Given the description of an element on the screen output the (x, y) to click on. 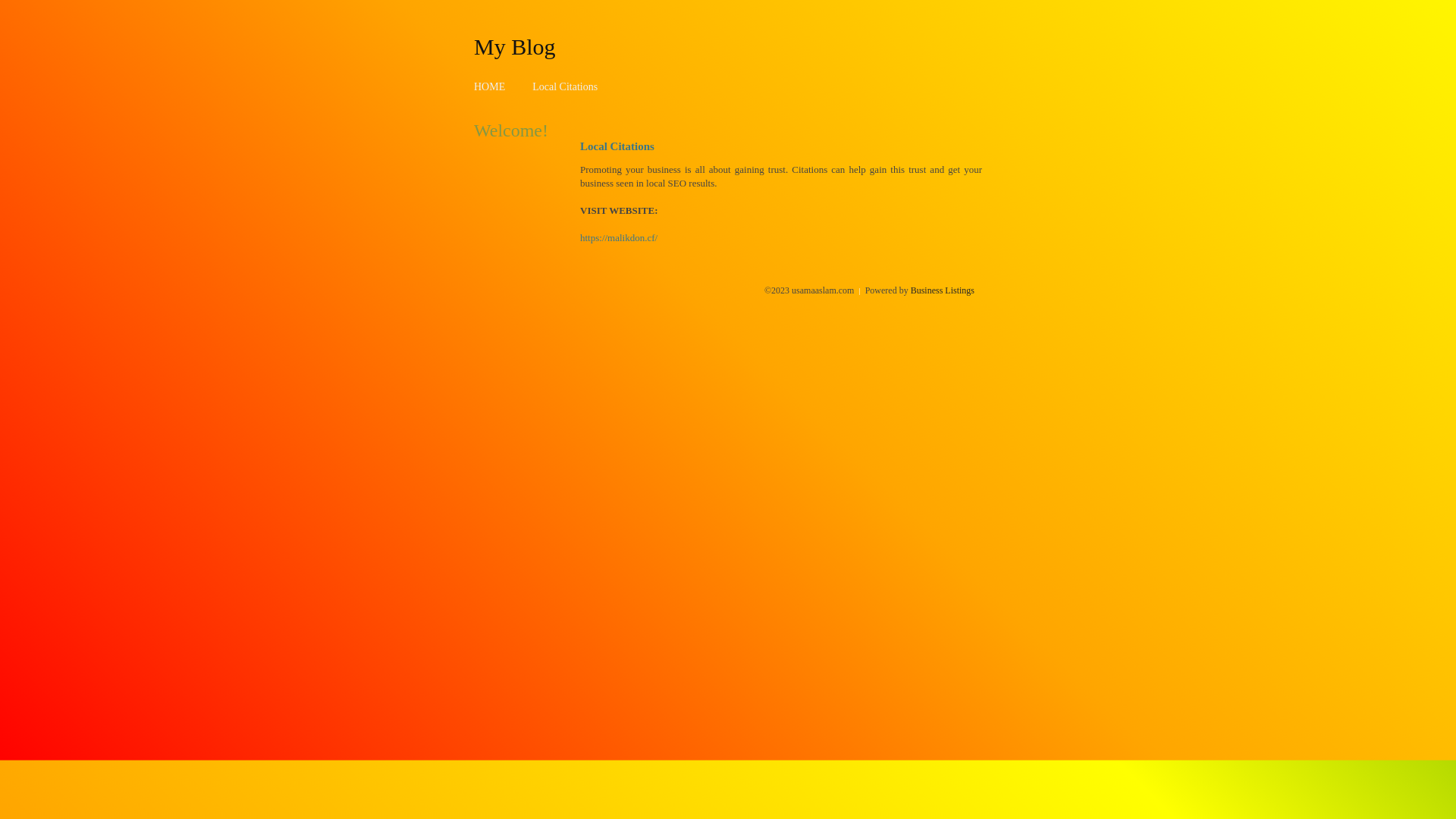
Business Listings Element type: text (942, 290)
Local Citations Element type: text (564, 86)
My Blog Element type: text (514, 46)
HOME Element type: text (489, 86)
https://malikdon.cf/ Element type: text (618, 237)
